Given the description of an element on the screen output the (x, y) to click on. 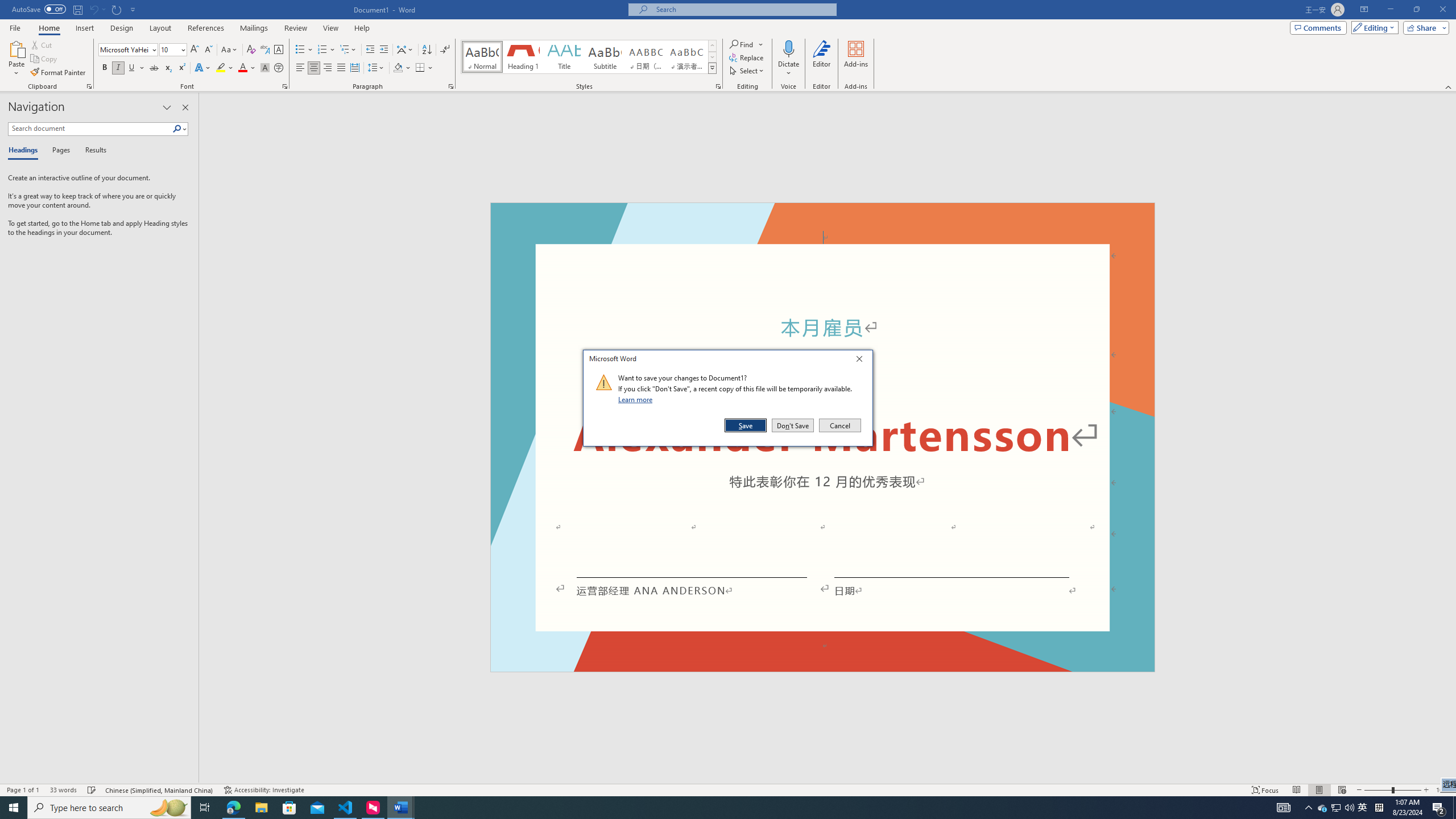
File Explorer (261, 807)
Word - 2 running windows (400, 807)
Language Chinese (Simplified, Mainland China) (159, 790)
User Promoted Notification Area (1336, 807)
